Given the description of an element on the screen output the (x, y) to click on. 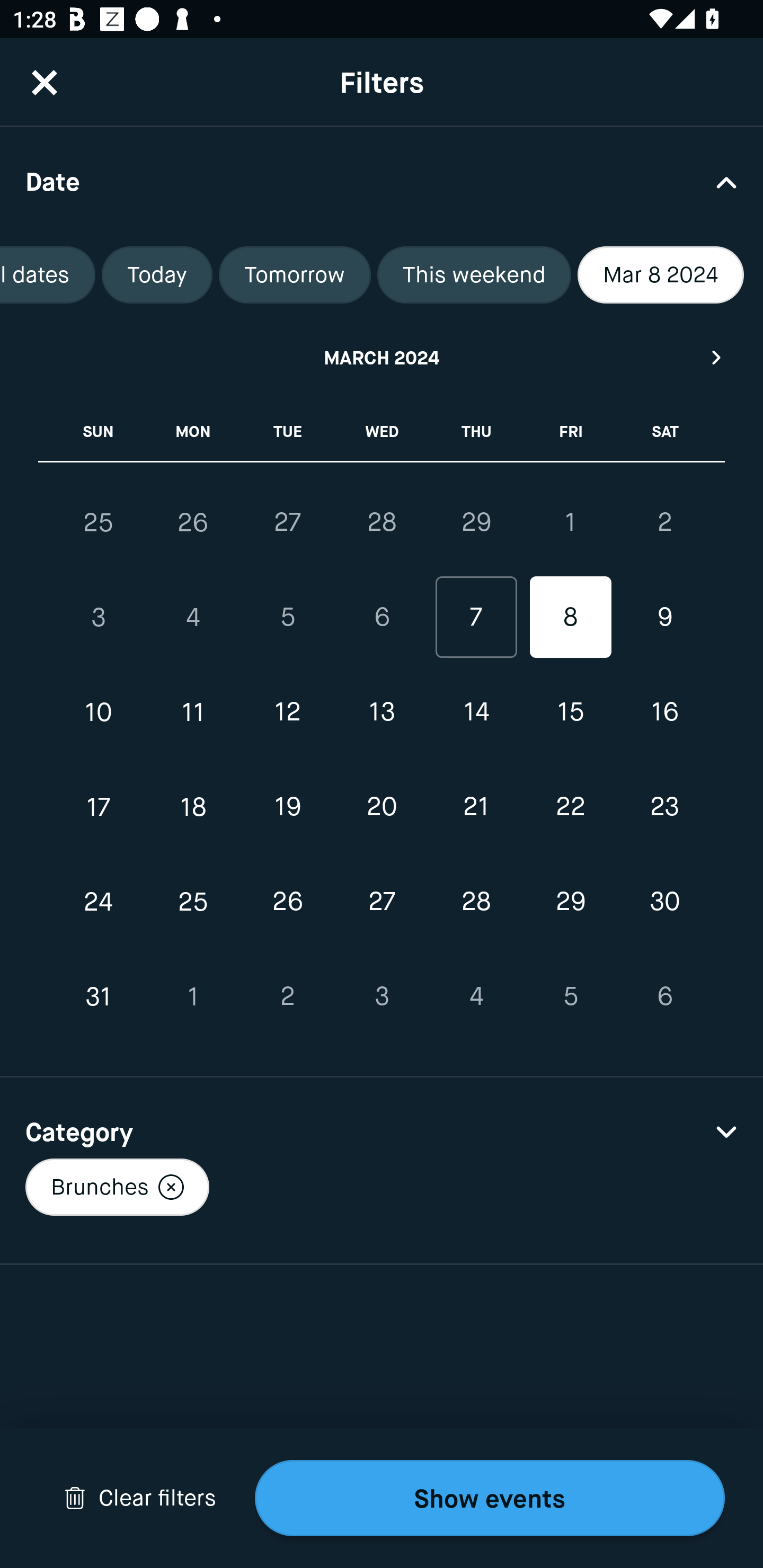
CloseButton (44, 82)
Date Drop Down Arrow (381, 181)
Today (156, 274)
Tomorrow (294, 274)
This weekend (473, 274)
Mar 8 2024 (660, 274)
Next (717, 357)
25 (98, 522)
26 (192, 522)
27 (287, 522)
28 (381, 522)
29 (475, 522)
1 (570, 522)
2 (664, 522)
3 (98, 617)
4 (192, 617)
5 (287, 617)
6 (381, 617)
7 (475, 617)
8 (570, 617)
9 (664, 617)
10 (98, 711)
11 (192, 711)
12 (287, 711)
13 (381, 711)
14 (475, 711)
15 (570, 711)
16 (664, 711)
17 (98, 806)
18 (192, 806)
19 (287, 806)
20 (381, 806)
21 (475, 806)
22 (570, 806)
23 (664, 806)
24 (98, 901)
25 (192, 901)
26 (287, 901)
27 (381, 901)
28 (475, 901)
29 (570, 901)
30 (664, 901)
31 (98, 996)
1 (192, 996)
2 (287, 996)
3 (381, 996)
4 (475, 996)
5 (570, 996)
6 (664, 996)
Brunches Localized description (117, 1186)
Drop Down Arrow Clear filters (139, 1497)
Show events (489, 1497)
